Given the description of an element on the screen output the (x, y) to click on. 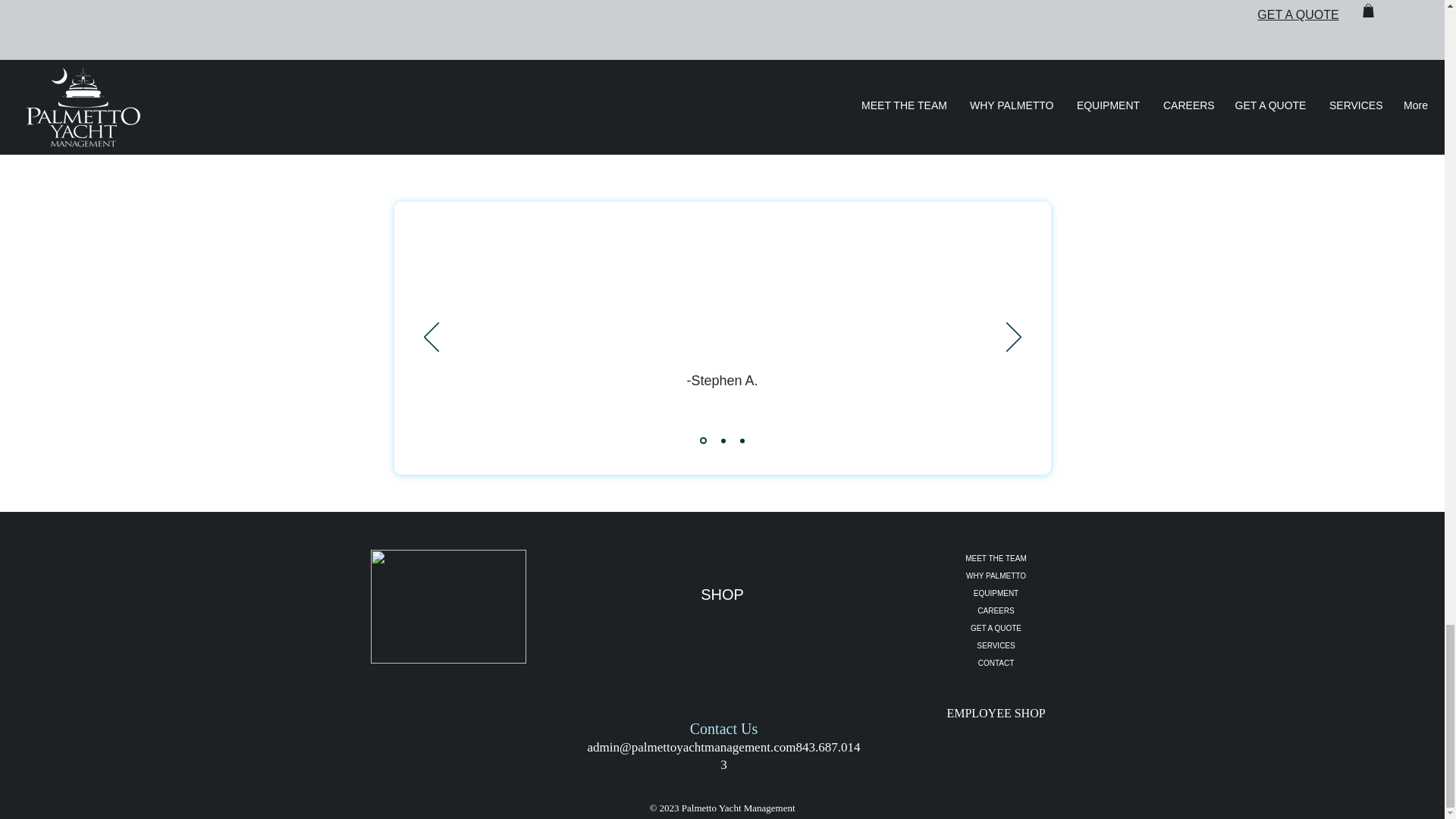
WHY PALMETTO (996, 575)
EQUIPMENT (996, 592)
CAREERS (996, 610)
half wreath.png (447, 606)
SHOP (722, 594)
MEET THE TEAM (996, 558)
